Given the description of an element on the screen output the (x, y) to click on. 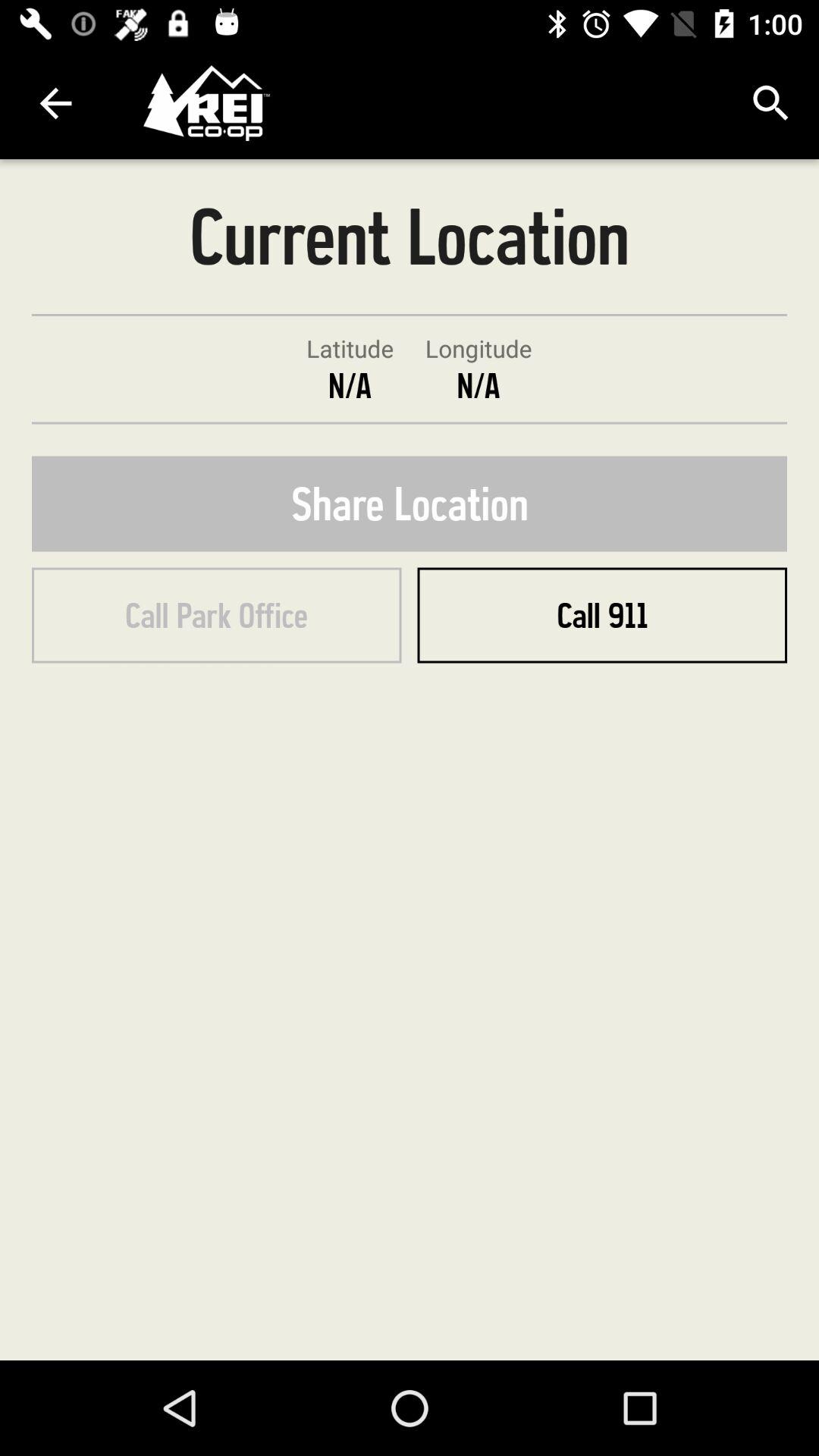
turn on the call park office on the left (216, 615)
